Given the description of an element on the screen output the (x, y) to click on. 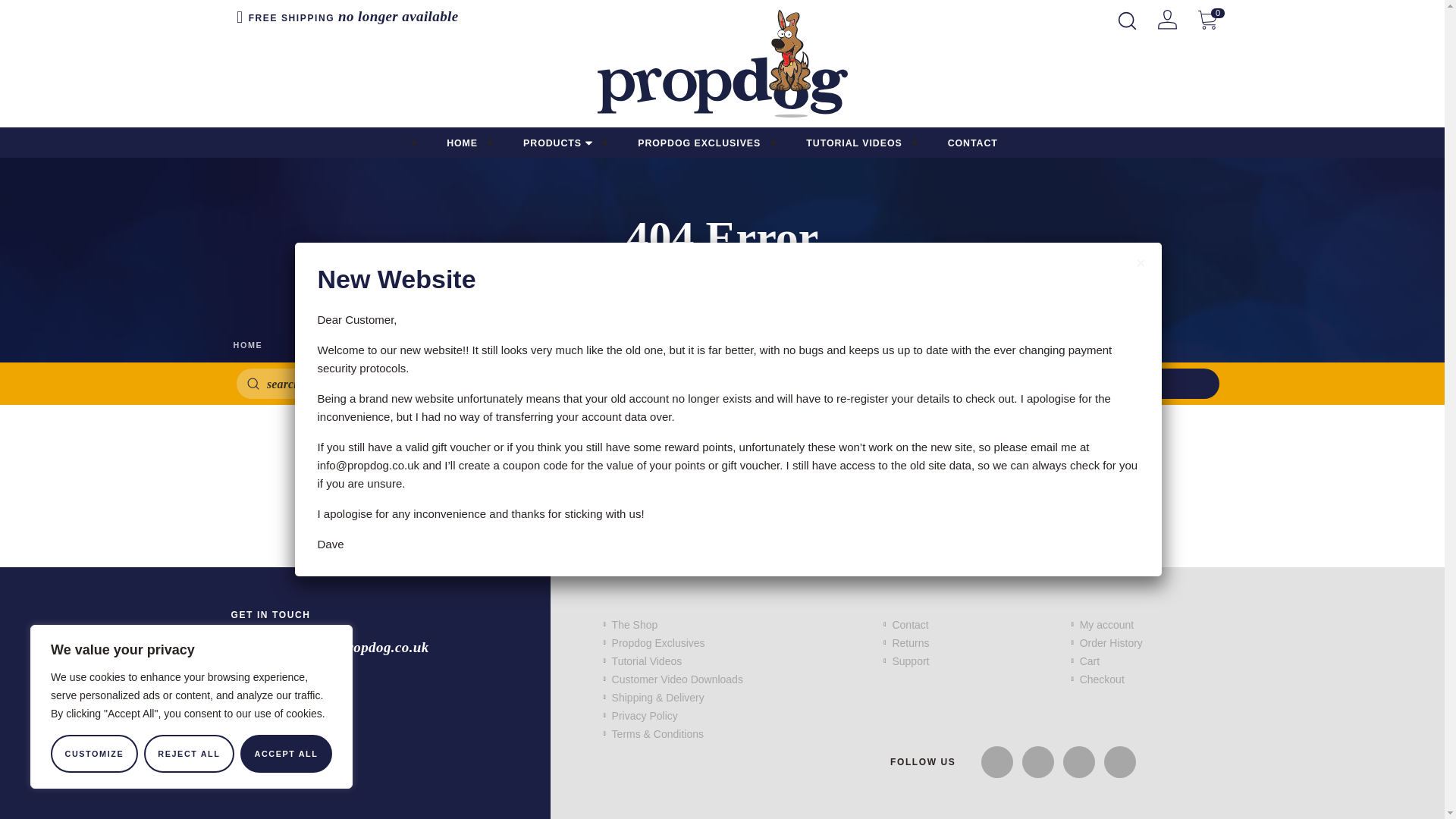
PropDog Magic Shop (721, 63)
ACCEPT ALL (285, 753)
REJECT ALL (189, 753)
View your shopping cart (1207, 18)
0 (1207, 18)
CUSTOMIZE (94, 753)
